Given the description of an element on the screen output the (x, y) to click on. 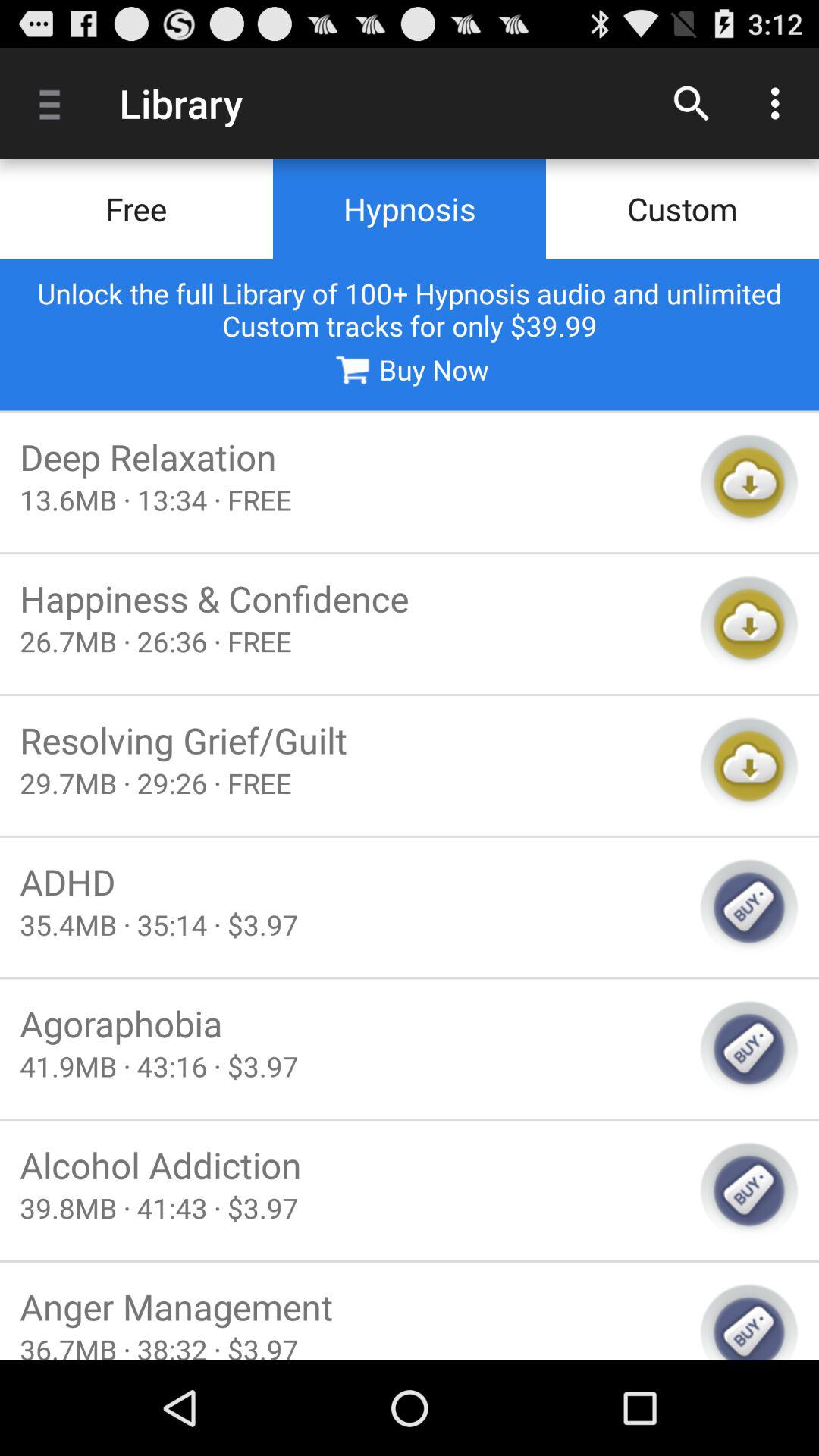
purchase audio (749, 1048)
